Given the description of an element on the screen output the (x, y) to click on. 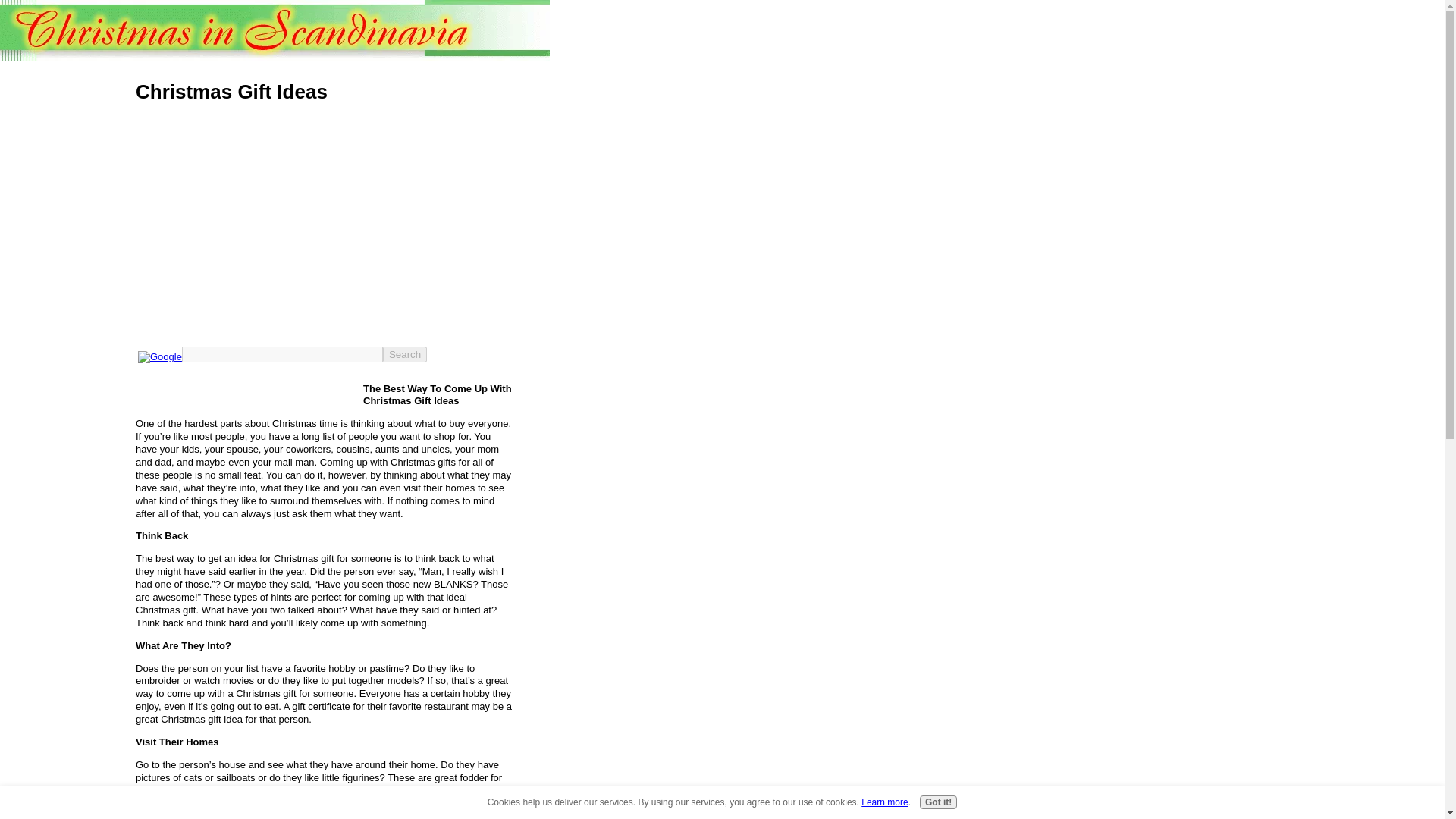
Search (404, 353)
Search (404, 353)
Got it! (938, 802)
Learn more (884, 801)
